Given the description of an element on the screen output the (x, y) to click on. 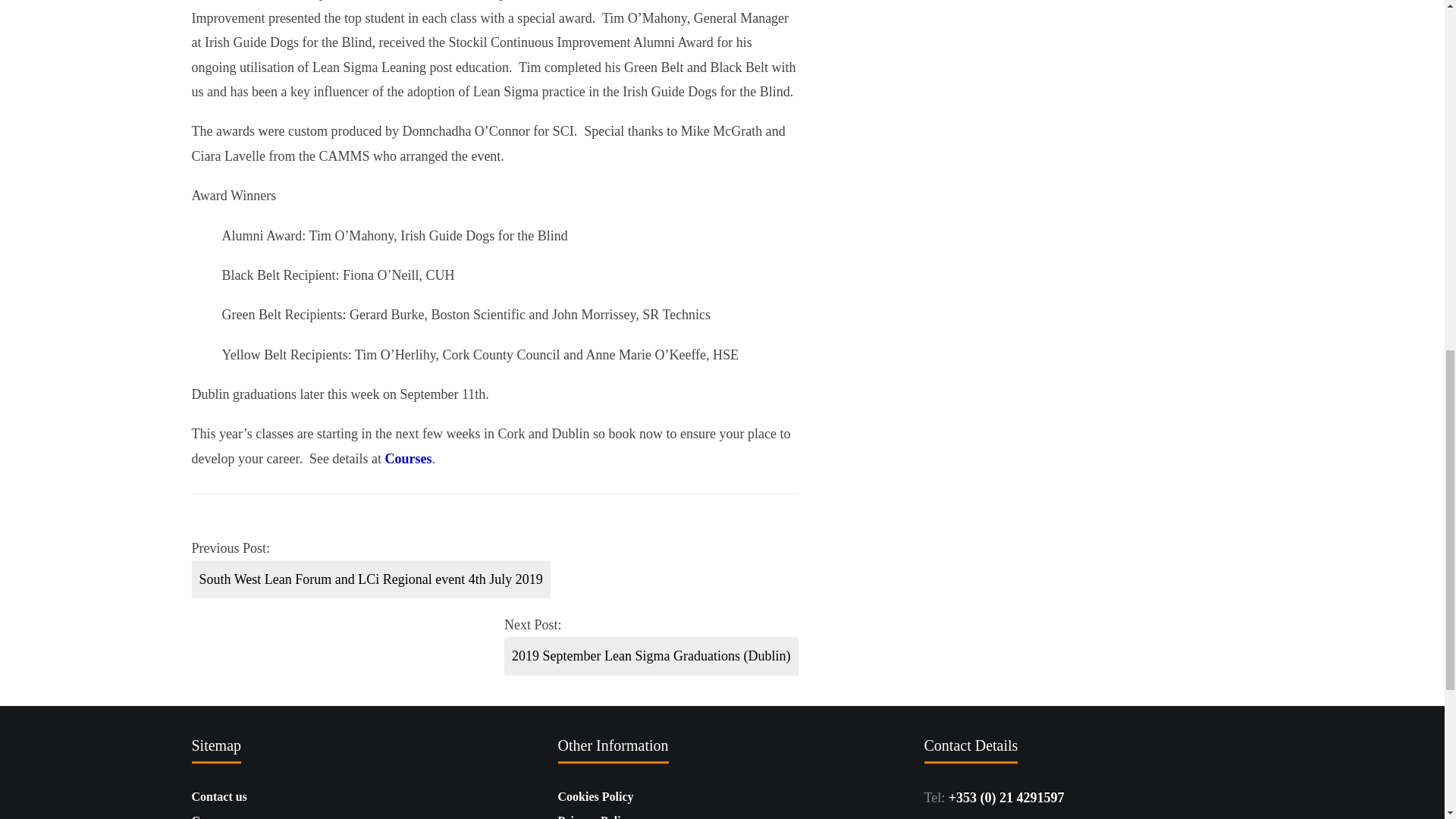
Cookies Policy (595, 796)
Courses (407, 458)
Contact us (218, 796)
South West Lean Forum and LCi Regional event 4th July 2019 (370, 579)
Privacy Policy (594, 816)
Courses (211, 816)
